Given the description of an element on the screen output the (x, y) to click on. 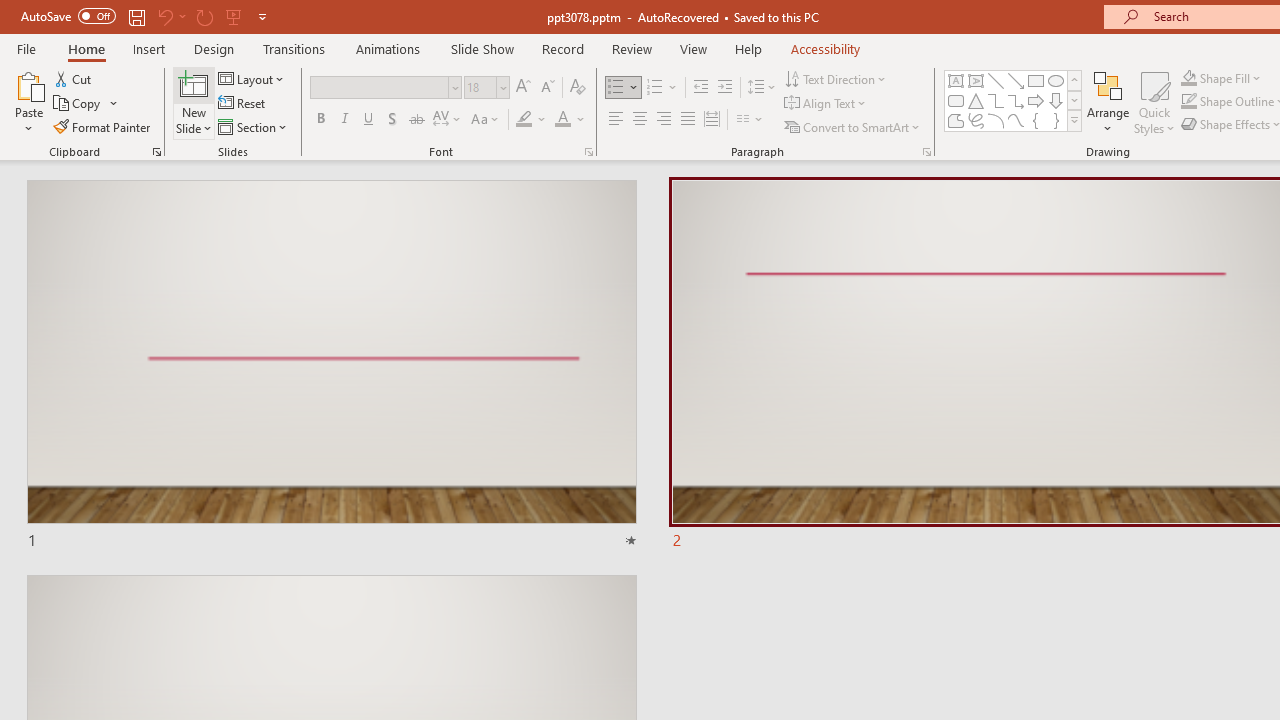
Arrow: Down (1055, 100)
Convert to SmartArt (853, 126)
Clear Formatting (577, 87)
Center (639, 119)
Format Painter (103, 126)
Paragraph... (926, 151)
Align Left (616, 119)
